Given the description of an element on the screen output the (x, y) to click on. 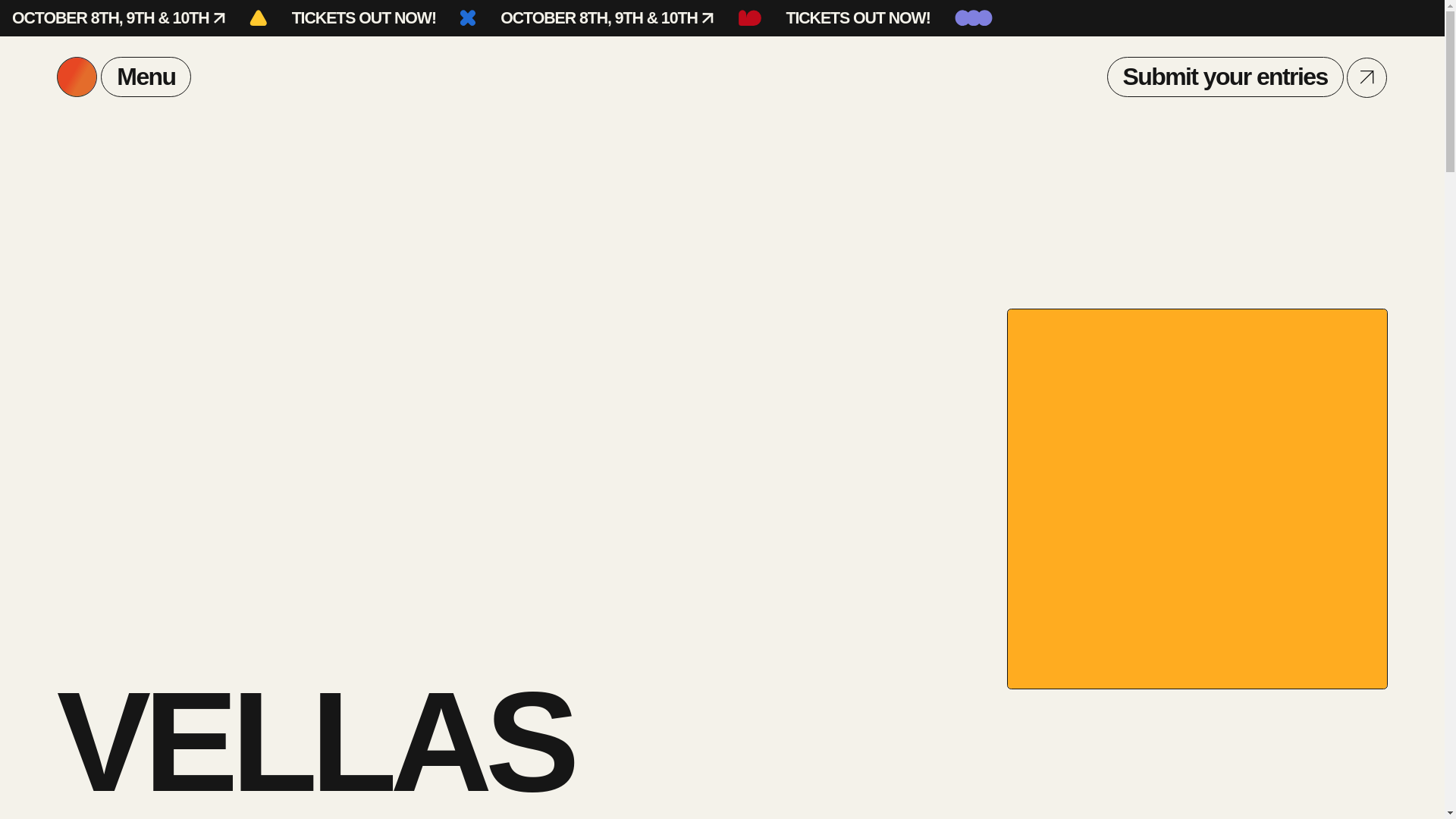
TICKETS OUT NOW! (858, 18)
TICKETS OUT NOW! (363, 18)
Submit your entries (1224, 76)
Menu (124, 76)
